Given the description of an element on the screen output the (x, y) to click on. 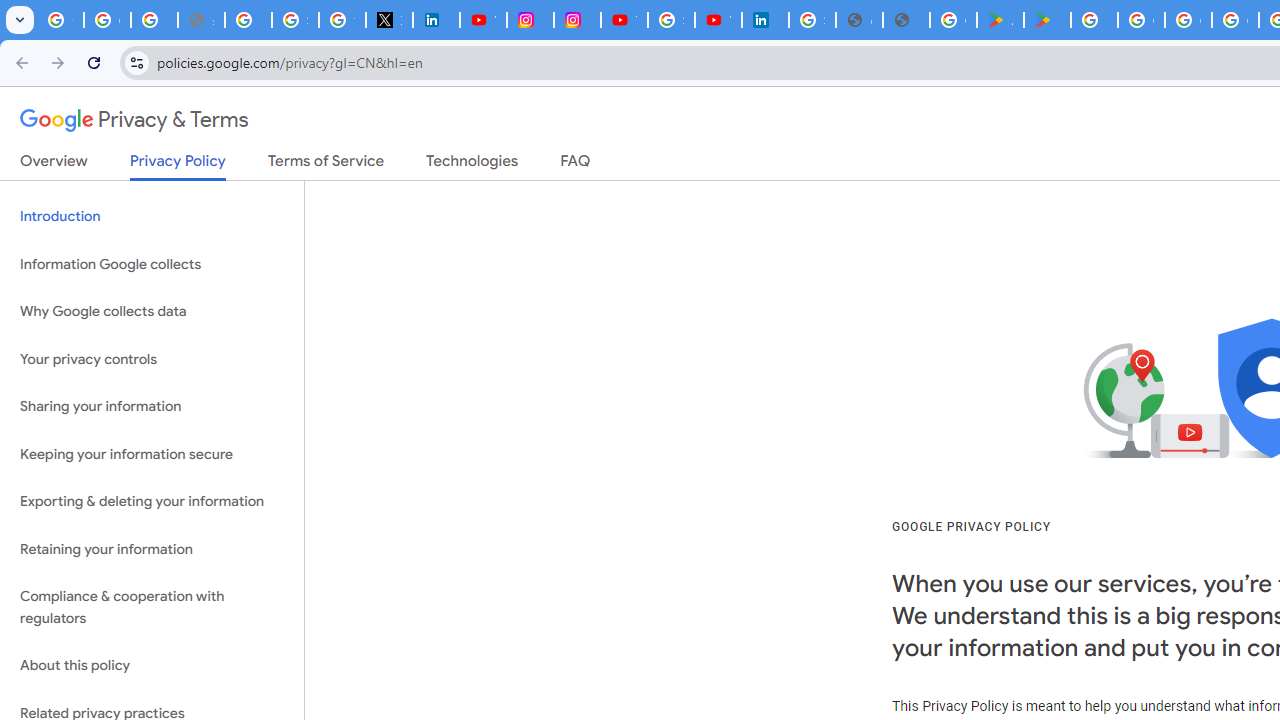
Technologies (472, 165)
Sharing your information (152, 407)
FAQ (575, 165)
Why Google collects data (152, 312)
User Details (906, 20)
Sign in - Google Accounts (294, 20)
support.google.com - Network error (201, 20)
Terms of Service (326, 165)
google_privacy_policy_en.pdf (859, 20)
